Given the description of an element on the screen output the (x, y) to click on. 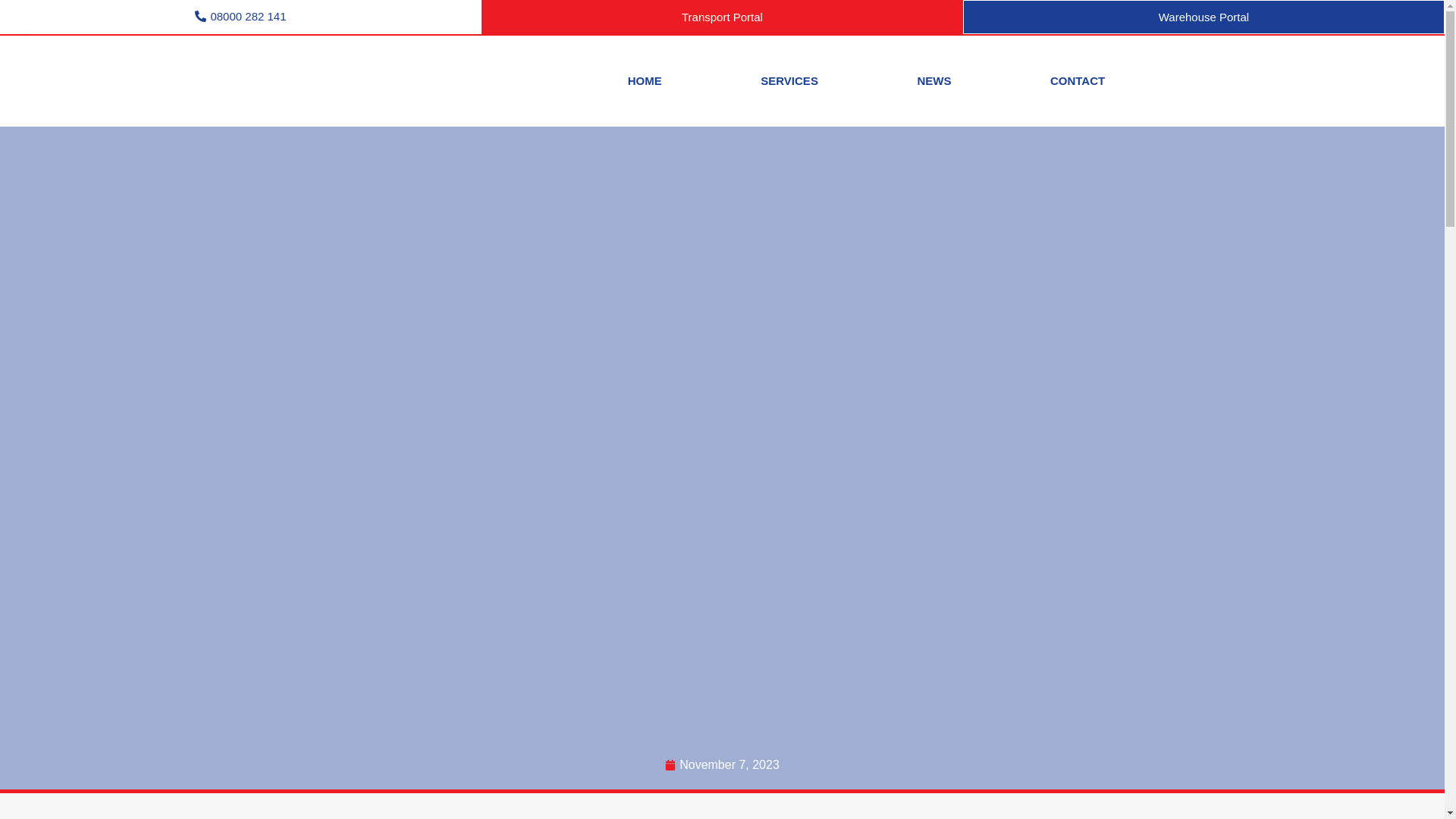
08000 282 141 (240, 17)
NEWS (934, 81)
SERVICES (789, 81)
CONTACT (1077, 81)
Transport Portal (721, 17)
HOME (644, 81)
November 7, 2023 (721, 764)
